Given the description of an element on the screen output the (x, y) to click on. 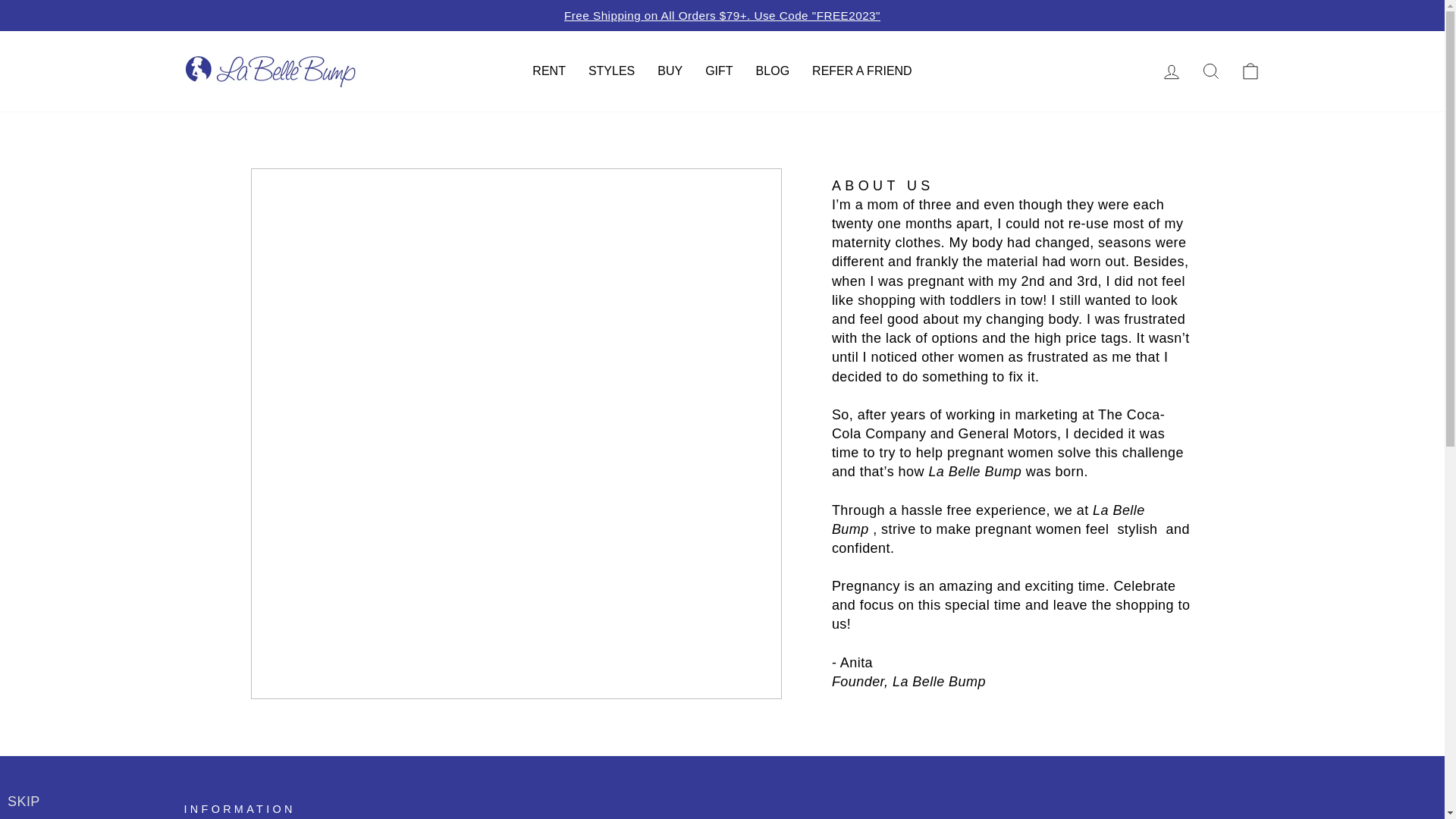
SKIP (23, 801)
